Given the description of an element on the screen output the (x, y) to click on. 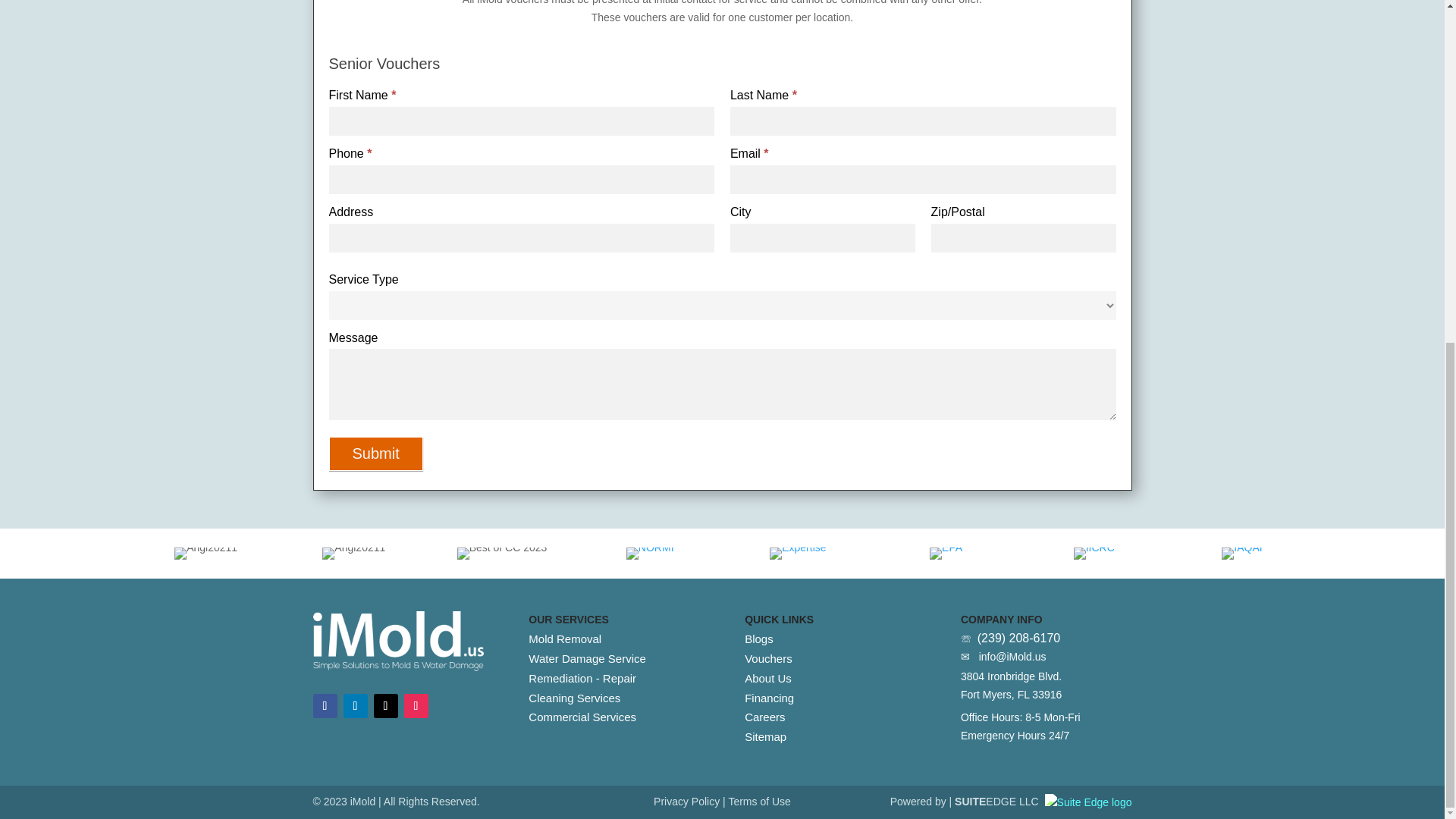
Best of CC 2023 (502, 553)
Angi20211 (650, 553)
Angi20211 (205, 553)
Angi20211 (797, 553)
Angi20211 (946, 553)
Angi20211 (353, 553)
